Given the description of an element on the screen output the (x, y) to click on. 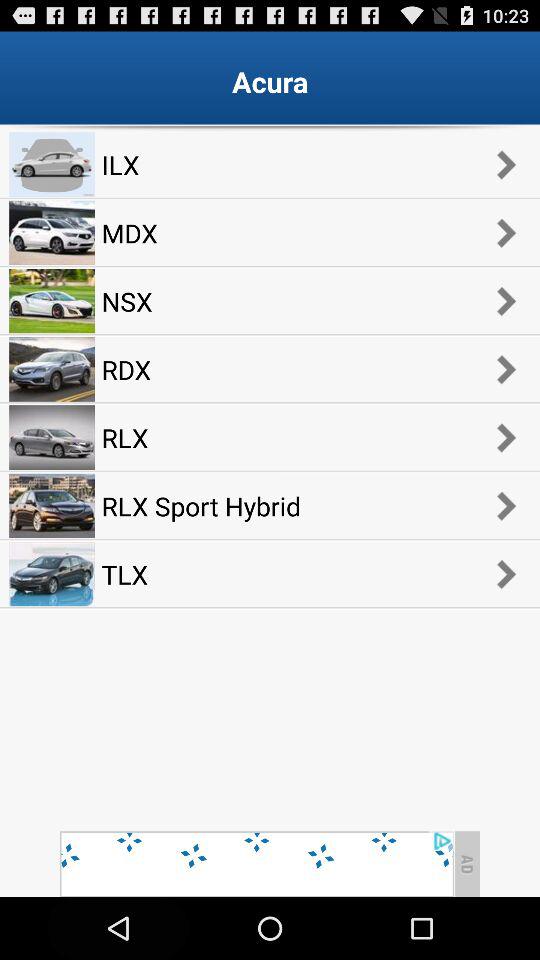
advertisement (256, 864)
